Given the description of an element on the screen output the (x, y) to click on. 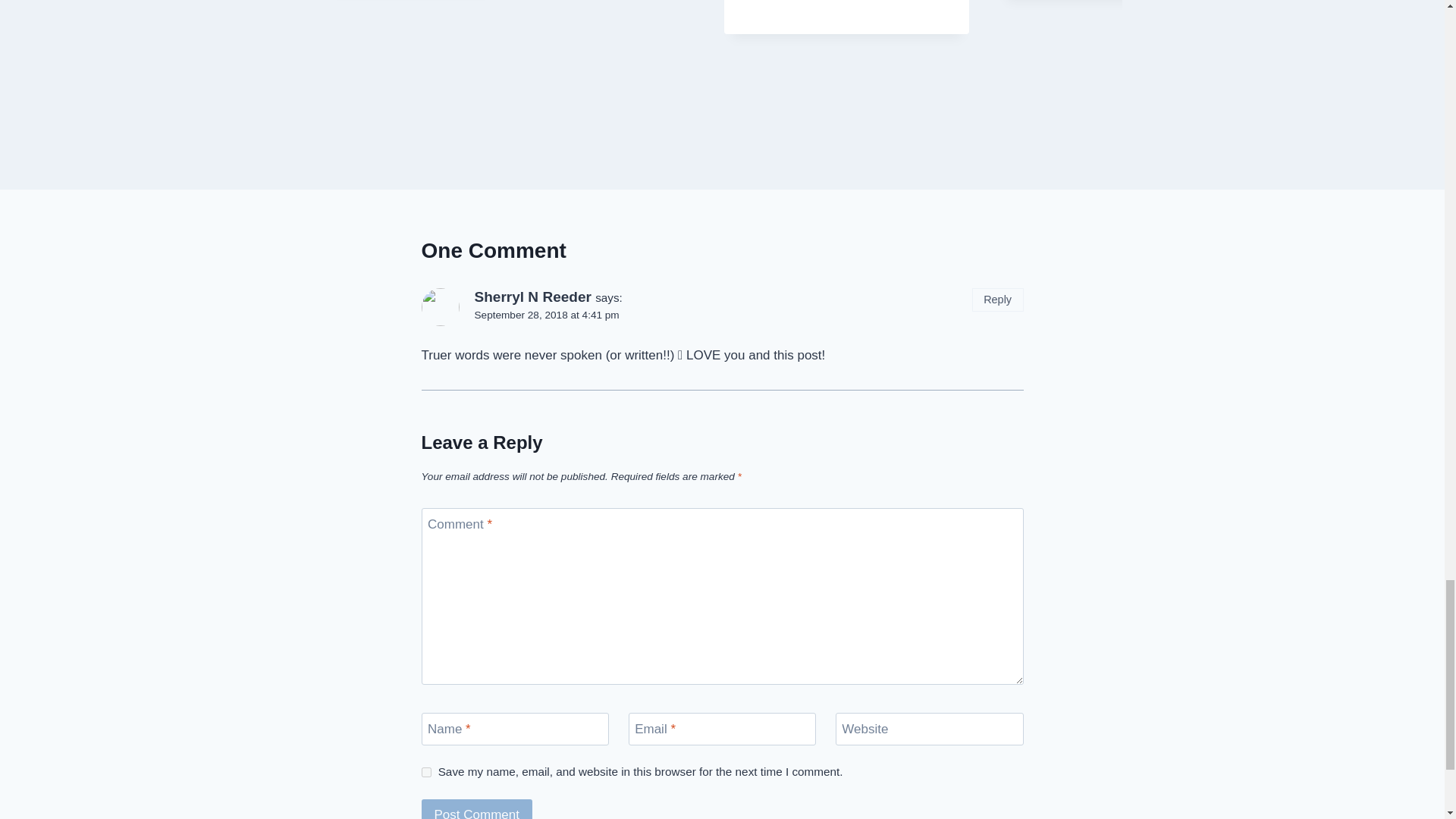
Post Comment (477, 809)
yes (426, 772)
